Given the description of an element on the screen output the (x, y) to click on. 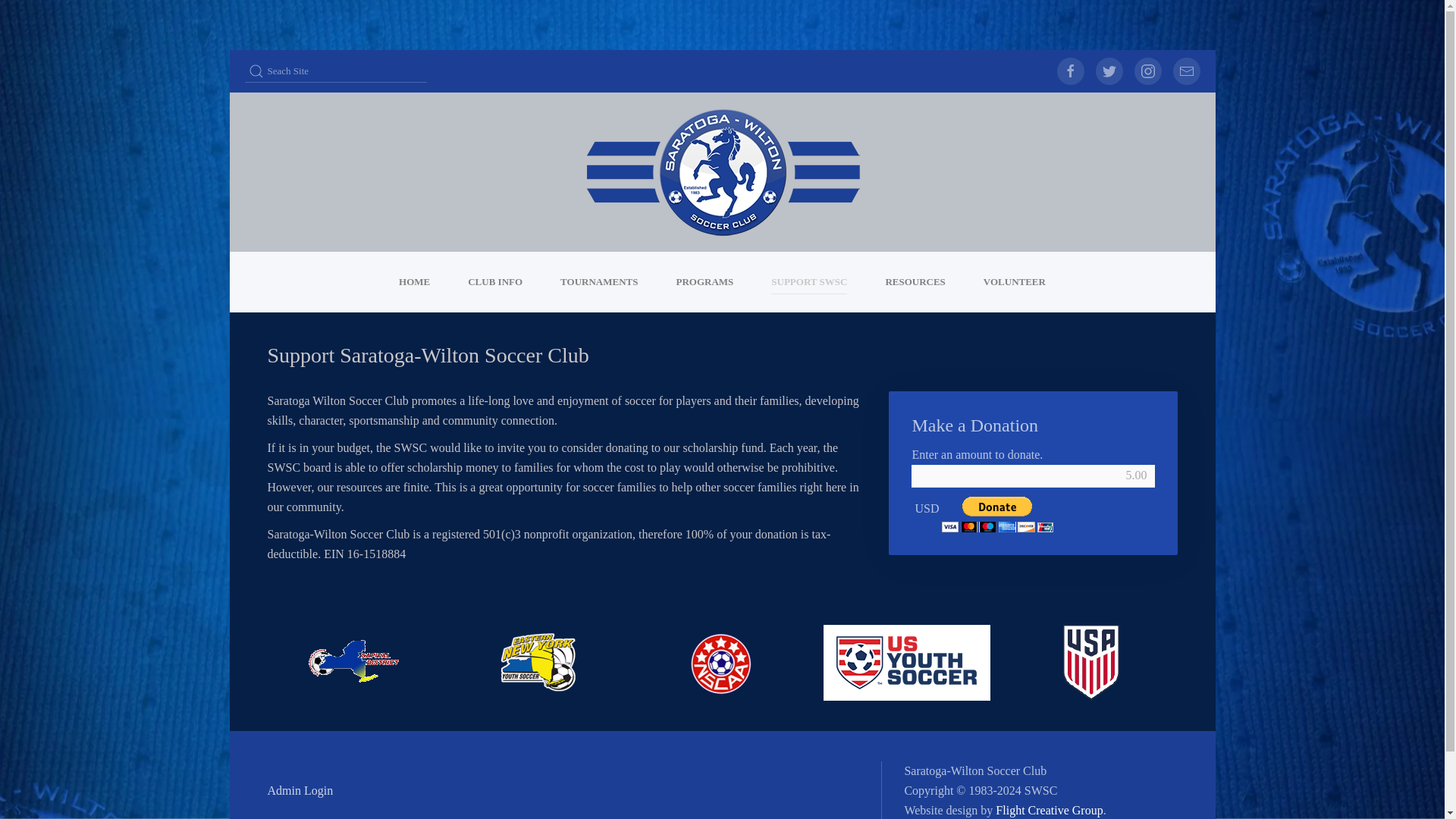
5.00 (1032, 476)
PROGRAMS (704, 281)
TOURNAMENTS (598, 281)
CLUB INFO (494, 281)
